Given the description of an element on the screen output the (x, y) to click on. 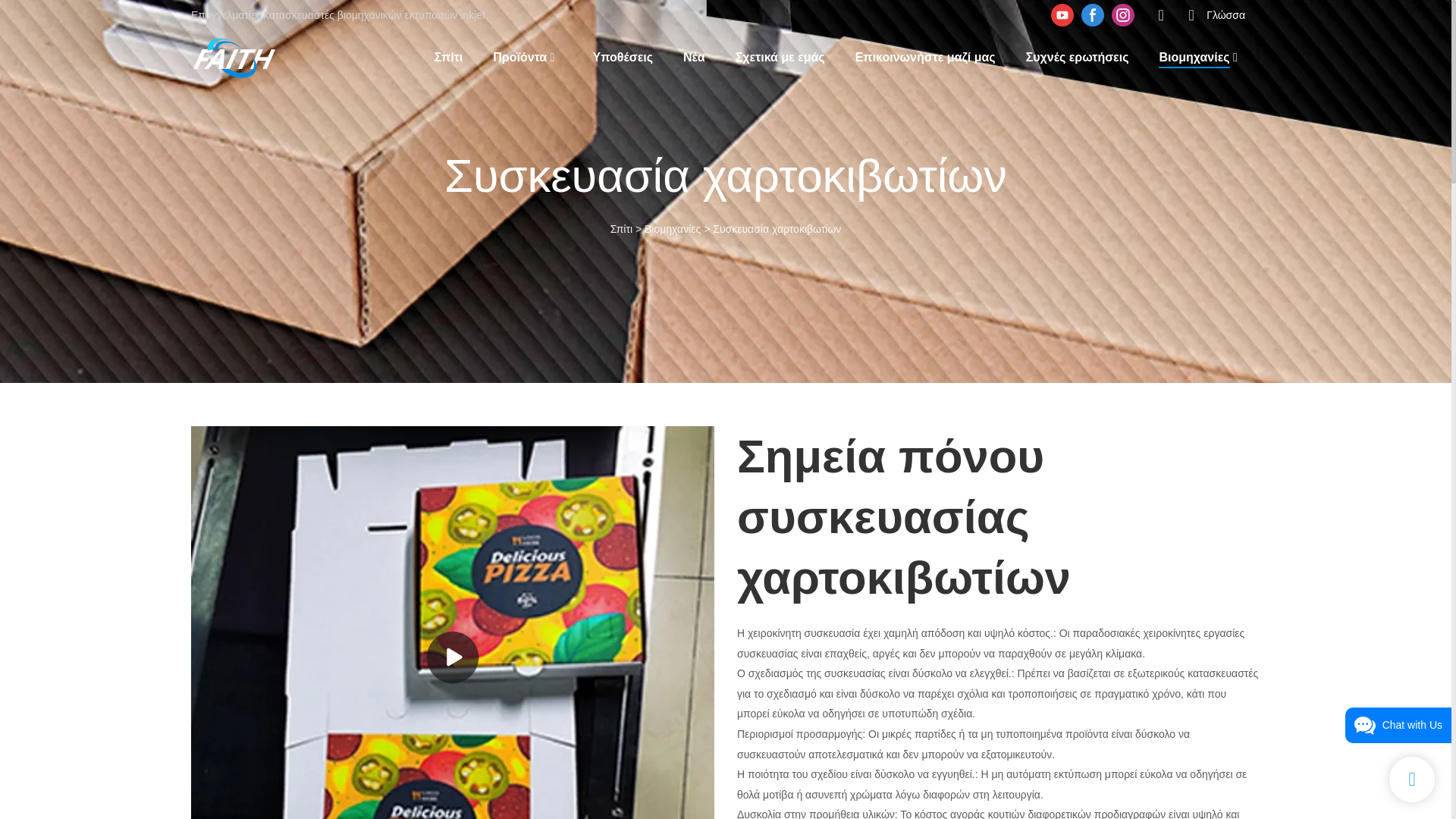
youtube (1061, 15)
facebook (1092, 15)
instagram (1123, 15)
